Given the description of an element on the screen output the (x, y) to click on. 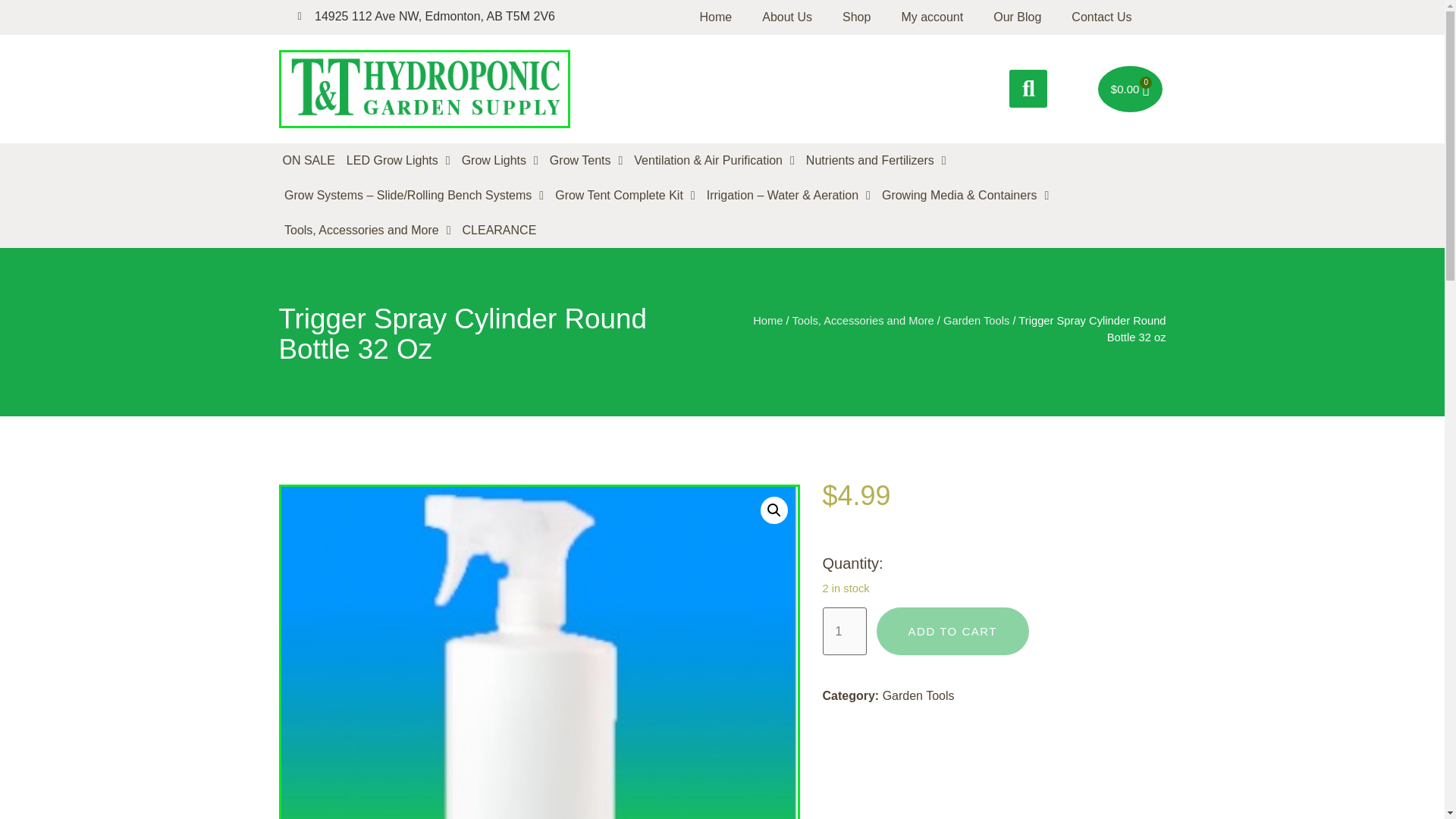
Contact Us (1102, 17)
1 (844, 631)
ON SALE (309, 160)
LED Grow Lights (398, 160)
Our Blog (1017, 17)
About Us (786, 17)
Home (716, 17)
My account (931, 17)
Grow Lights (499, 160)
Grow Tents (586, 160)
Shop (856, 17)
